Given the description of an element on the screen output the (x, y) to click on. 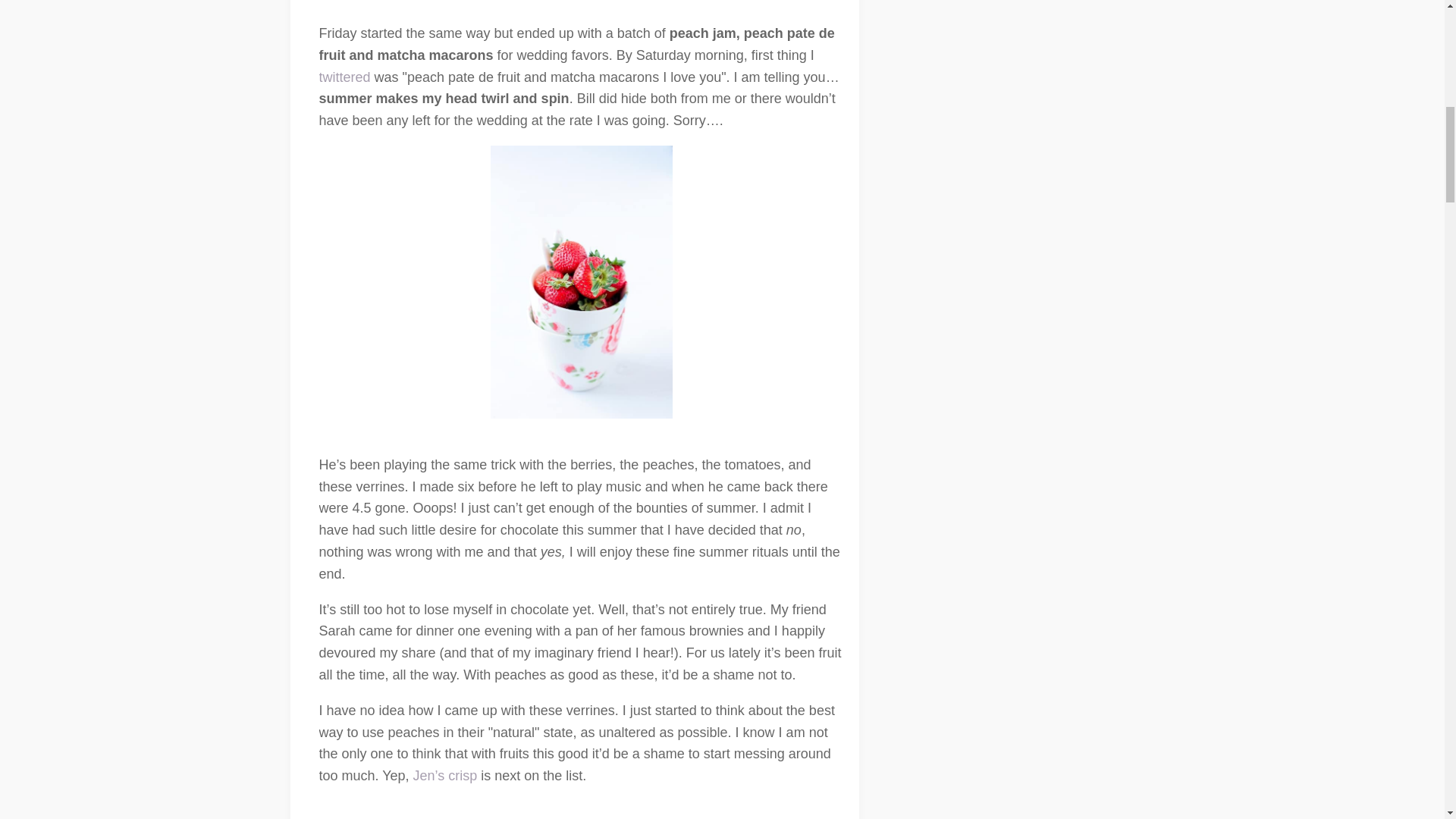
Baking Feels Just Like Velvet by tartelette, on Flickr (580, 809)
twittered (343, 77)
